Given the description of an element on the screen output the (x, y) to click on. 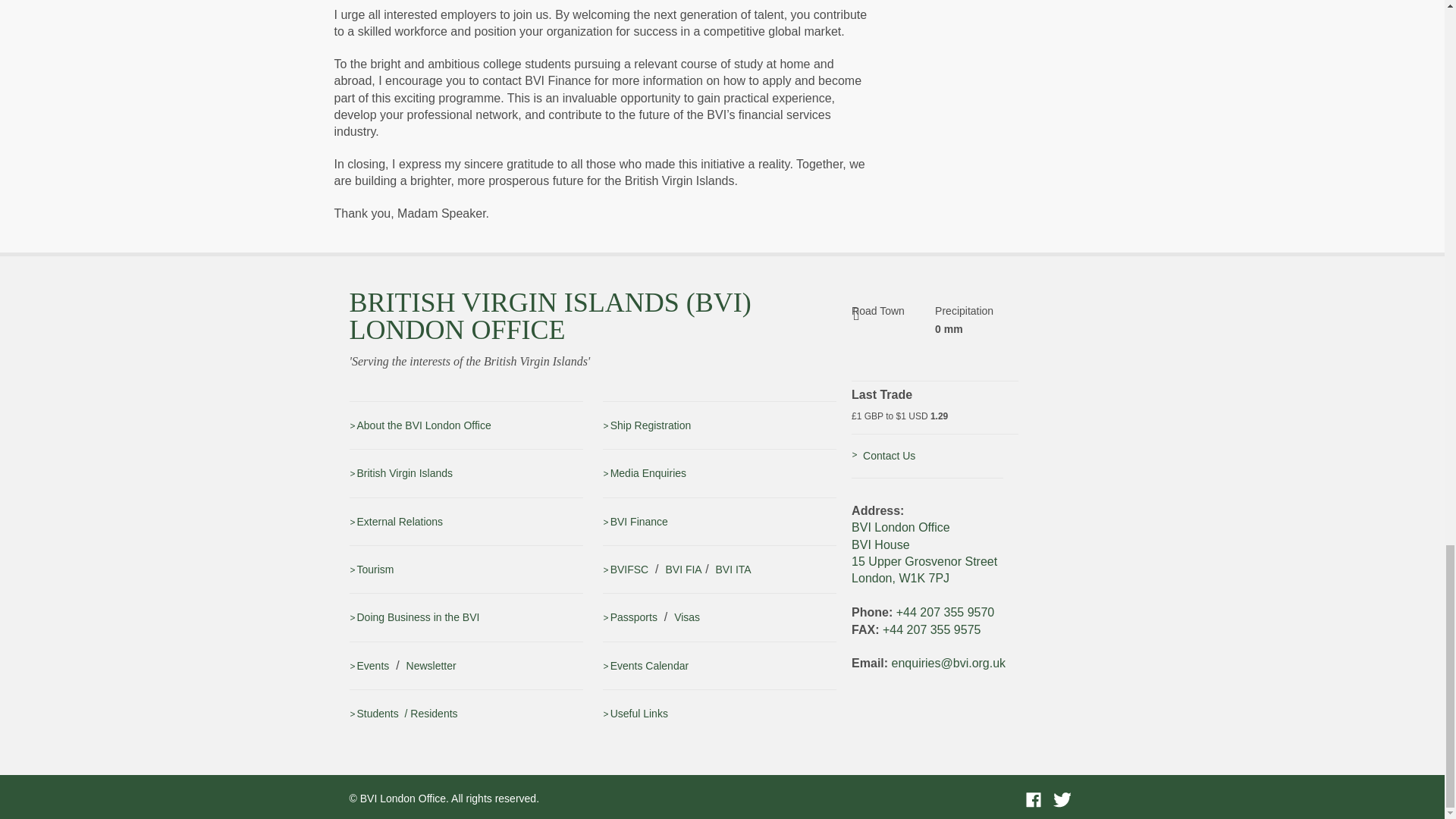
British Virgin Islands (400, 472)
BVI Finance (635, 521)
BVIFSC (625, 569)
BVI ITA (732, 569)
External Relations (395, 521)
BVI FIA (683, 569)
Doing Business in the BVI (414, 616)
About the BVI London Office (419, 425)
Passports (630, 616)
Visas (687, 616)
Tourism (371, 569)
Ship Registration (646, 425)
Media Enquiries (643, 472)
